Given the description of an element on the screen output the (x, y) to click on. 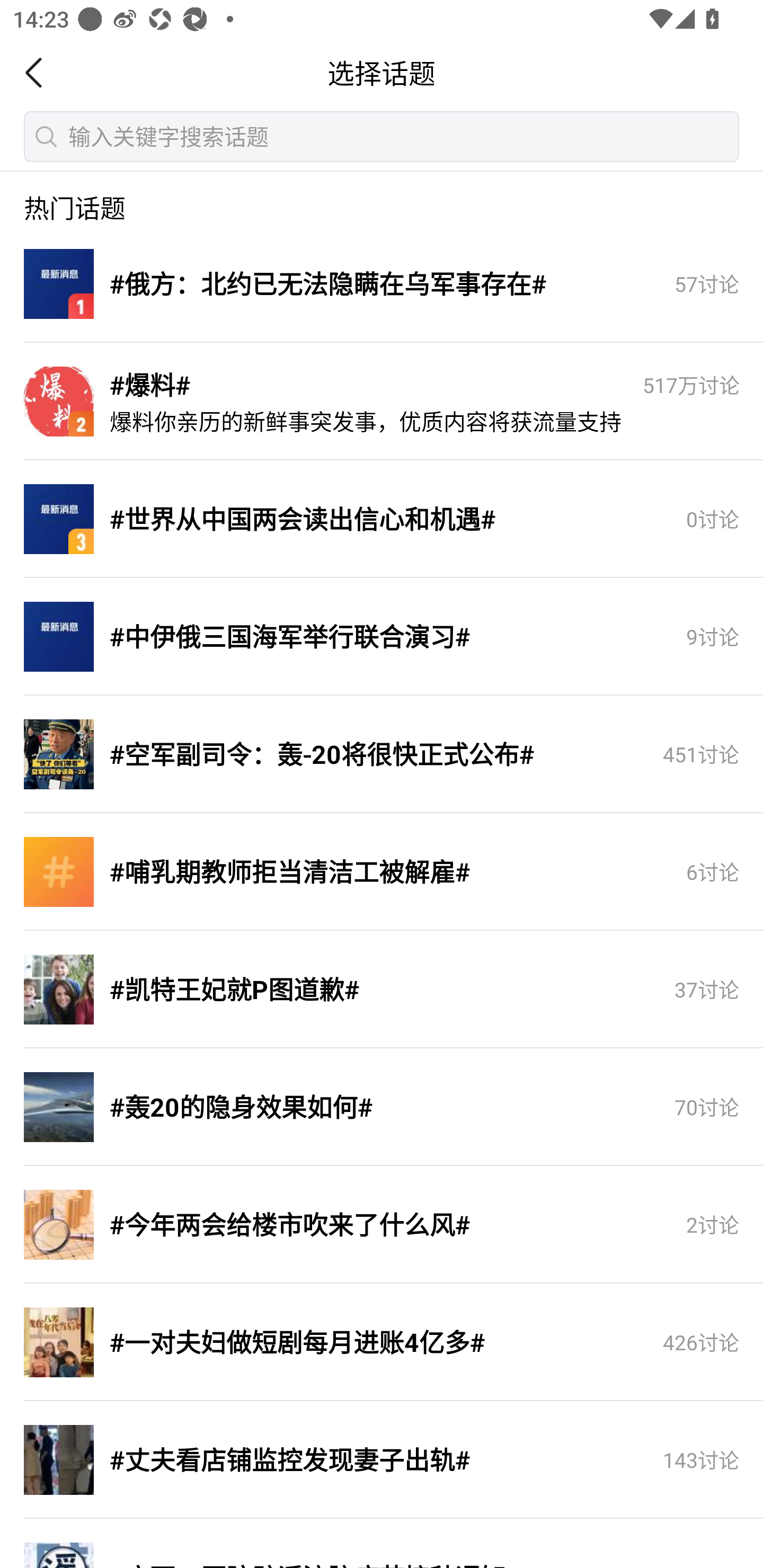
返回 (39, 72)
输入关键字搜索话题 (381, 136)
#俄方：北约已无法隐瞒在乌军事存在# 57讨论 (381, 284)
#爆料# 517万讨论 爆料你亲历的新鲜事突发事，优质内容将获流量支持 (381, 401)
#世界从中国两会读出信心和机遇# 0讨论 (381, 519)
#中伊俄三国海军举行联合演习# 9讨论 (381, 637)
#空军副司令：轰-20将很快正式公布# 451讨论 (381, 754)
#哺乳期教师拒当清洁工被解雇# 6讨论 (381, 872)
#凯特王妃就P图道歉# 37讨论 (381, 989)
#轰20的隐身效果如何# 70讨论 (381, 1107)
#今年两会给楼市吹来了什么风# 2讨论 (381, 1225)
#一对夫妇做短剧每月进账4亿多# 426讨论 (381, 1342)
#丈夫看店铺监控发现妻子出轨# 143讨论 (381, 1460)
